Given the description of an element on the screen output the (x, y) to click on. 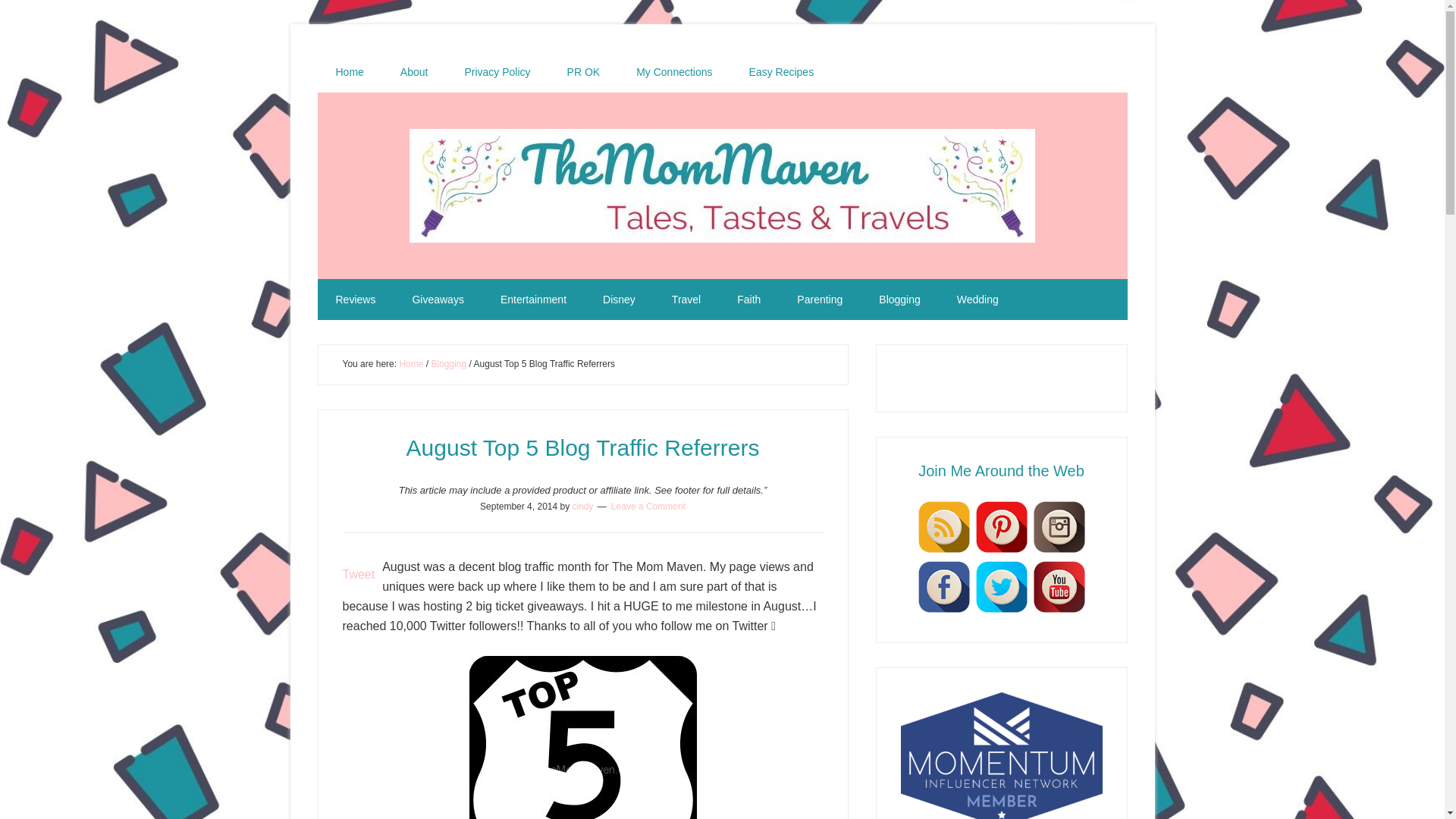
About (413, 71)
Disney (619, 299)
Wedding (977, 299)
Leave a Comment (648, 505)
twitter (1000, 586)
RSS (943, 526)
PR OK (583, 71)
My Connections (673, 71)
cindy (582, 505)
Instagram (1058, 551)
Faith (748, 299)
Instagram (1058, 526)
Tweet (358, 574)
Home (349, 71)
Parenting (819, 299)
